Given the description of an element on the screen output the (x, y) to click on. 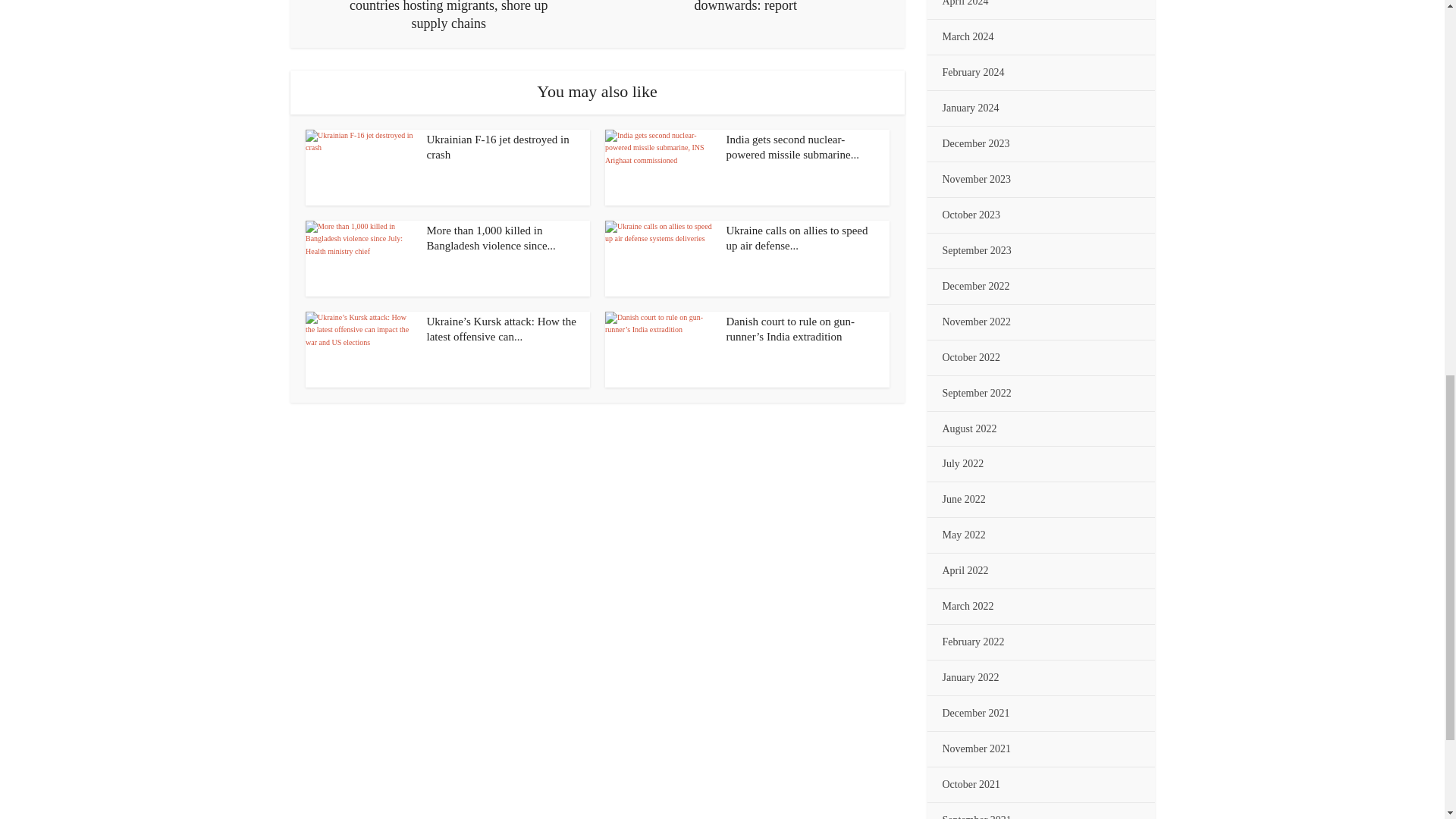
Ukrainian F-16 jet destroyed in crash (497, 146)
Ukrainian F-16 jet destroyed in crash (359, 167)
Democracy worldwide trending downwards: report (745, 7)
Ukrainian F-16 jet destroyed in crash (497, 146)
